Given the description of an element on the screen output the (x, y) to click on. 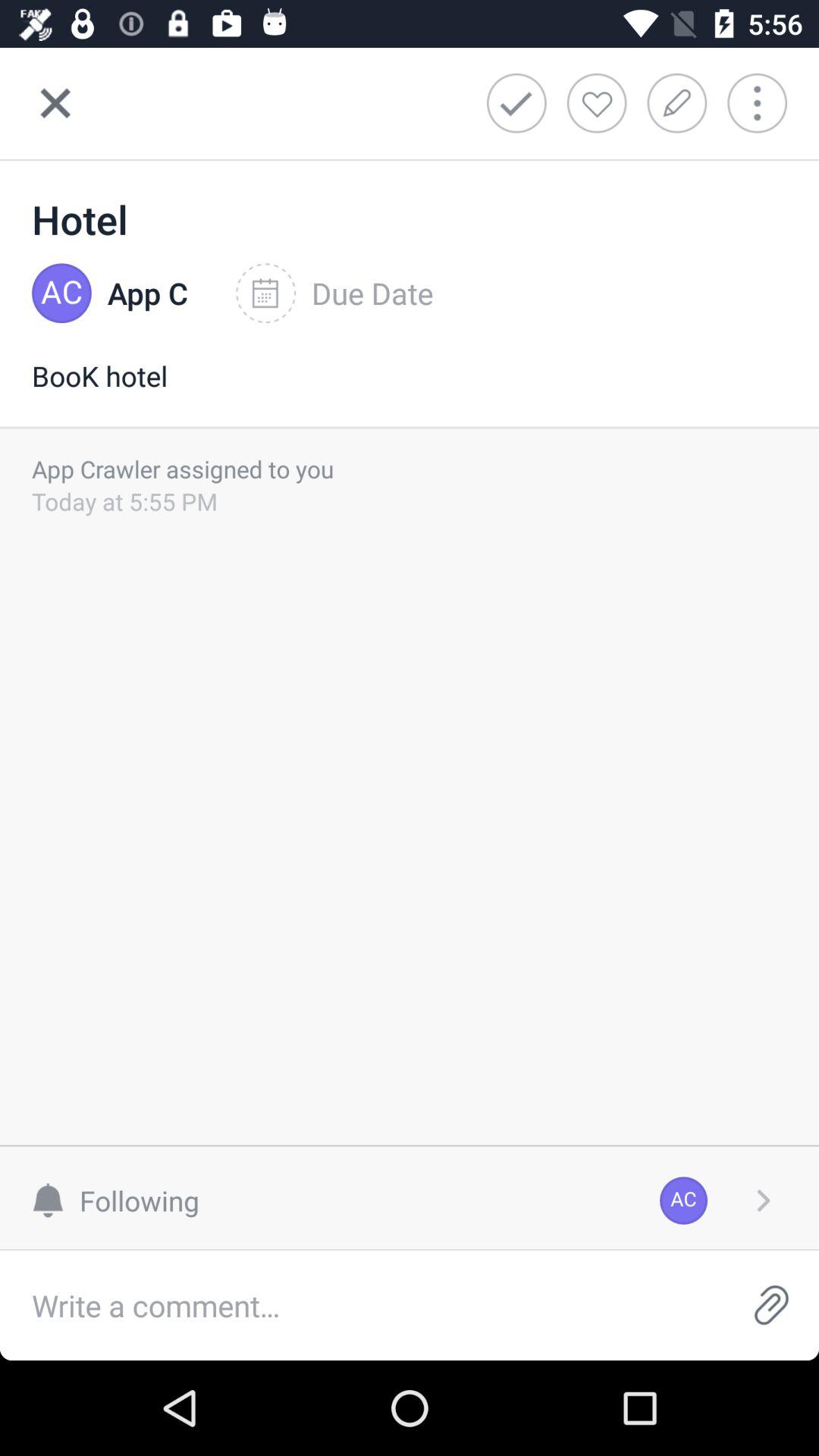
click the icon above book hotel item (147, 293)
